Given the description of an element on the screen output the (x, y) to click on. 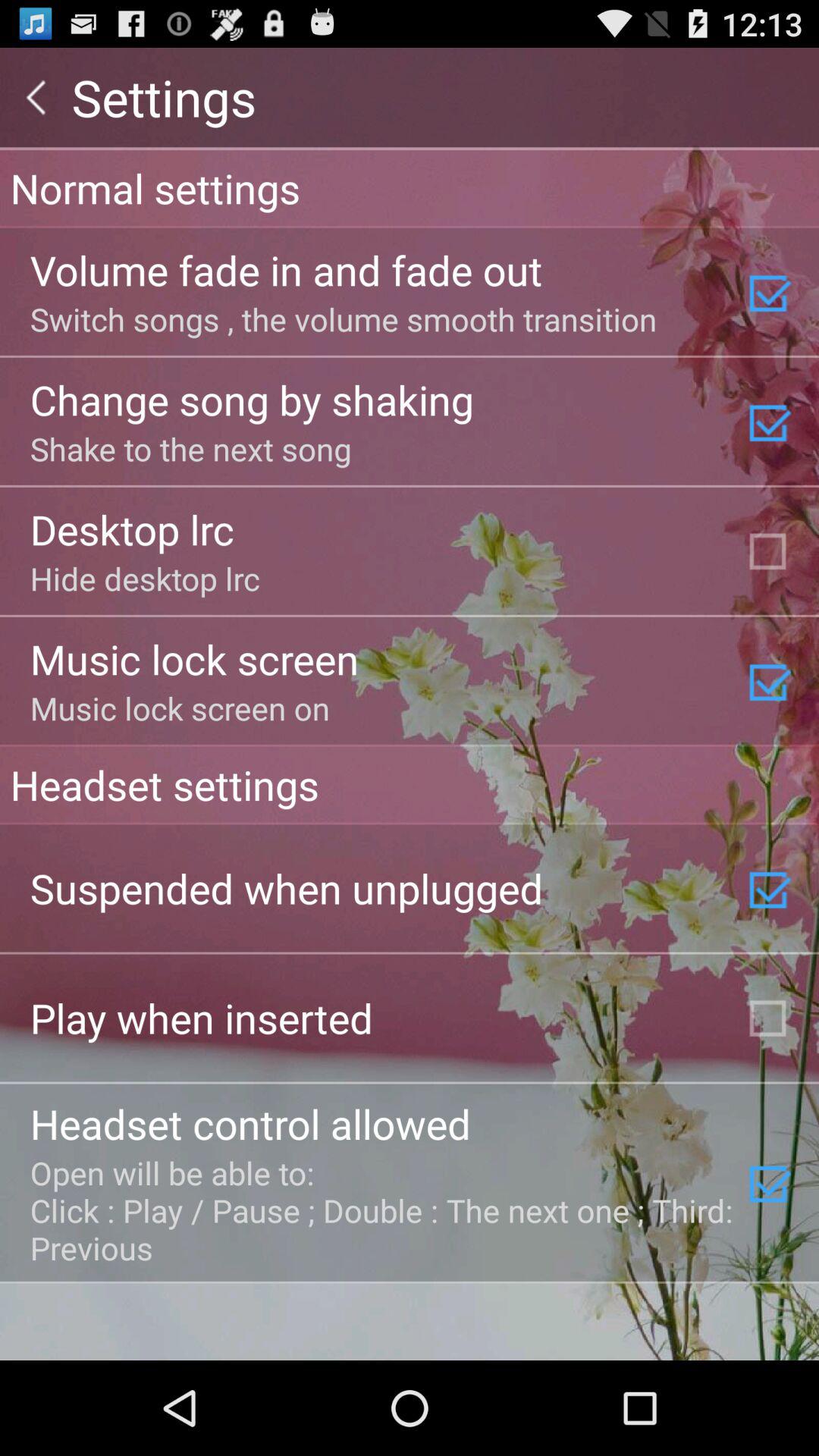
press the app next to the settings item (35, 97)
